Given the description of an element on the screen output the (x, y) to click on. 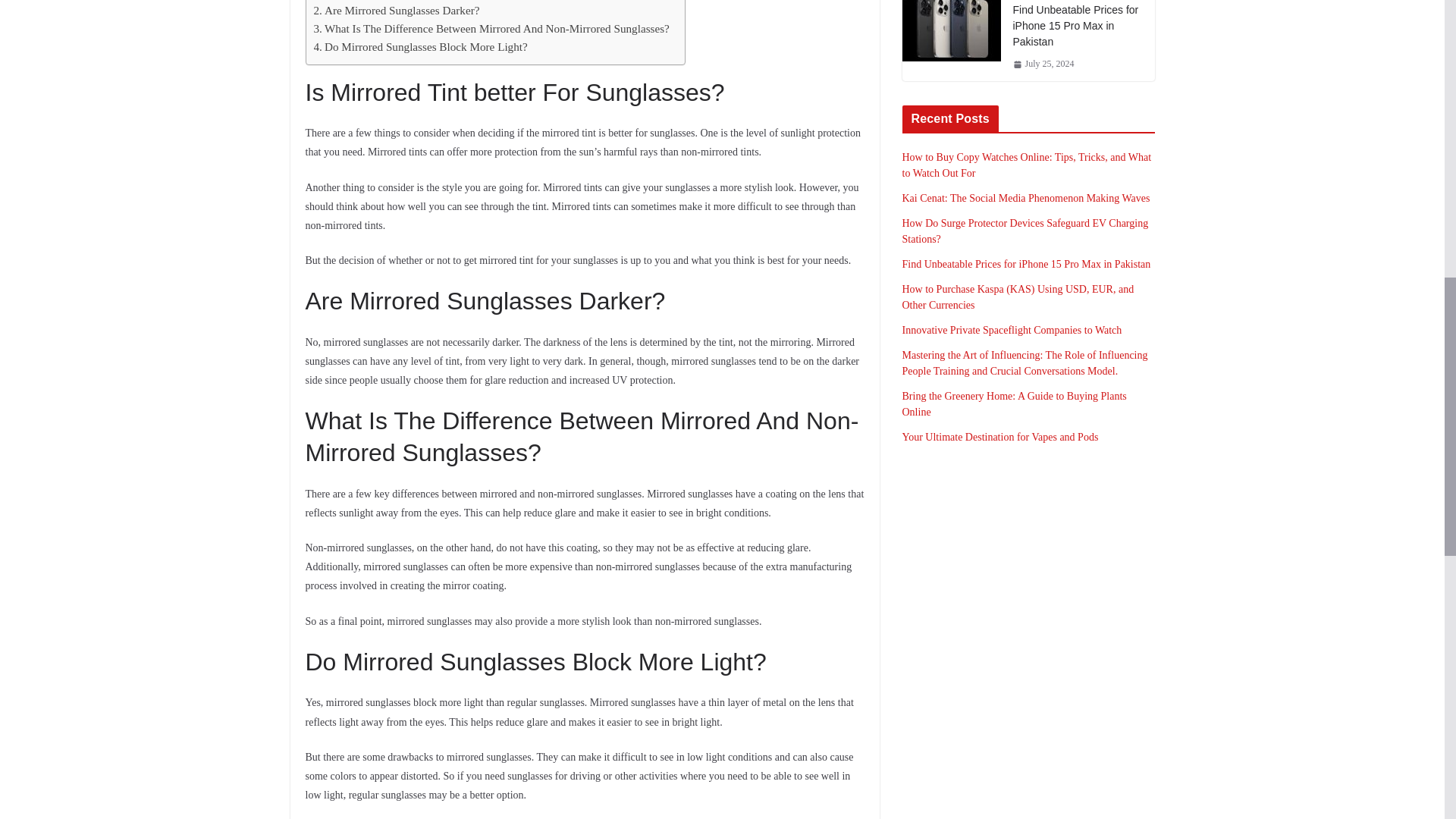
Do Mirrored Sunglasses Block More Light? (420, 46)
Are Mirrored Sunglasses Darker? (397, 10)
Are Mirrored Sunglasses Darker? (397, 10)
Do Mirrored Sunglasses Block More Light? (420, 46)
